Given the description of an element on the screen output the (x, y) to click on. 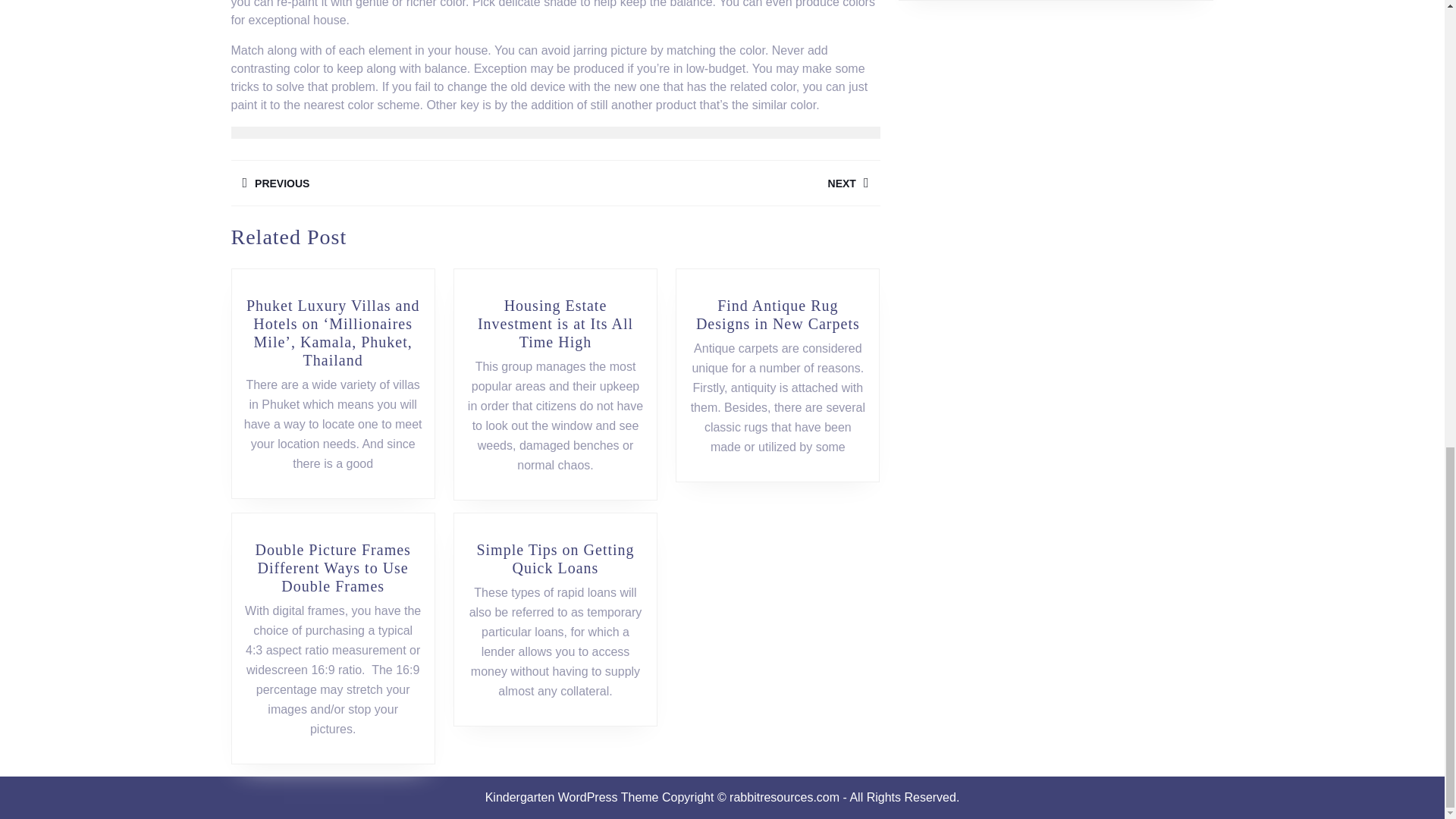
Kindergarten WordPress Theme (716, 182)
